Given the description of an element on the screen output the (x, y) to click on. 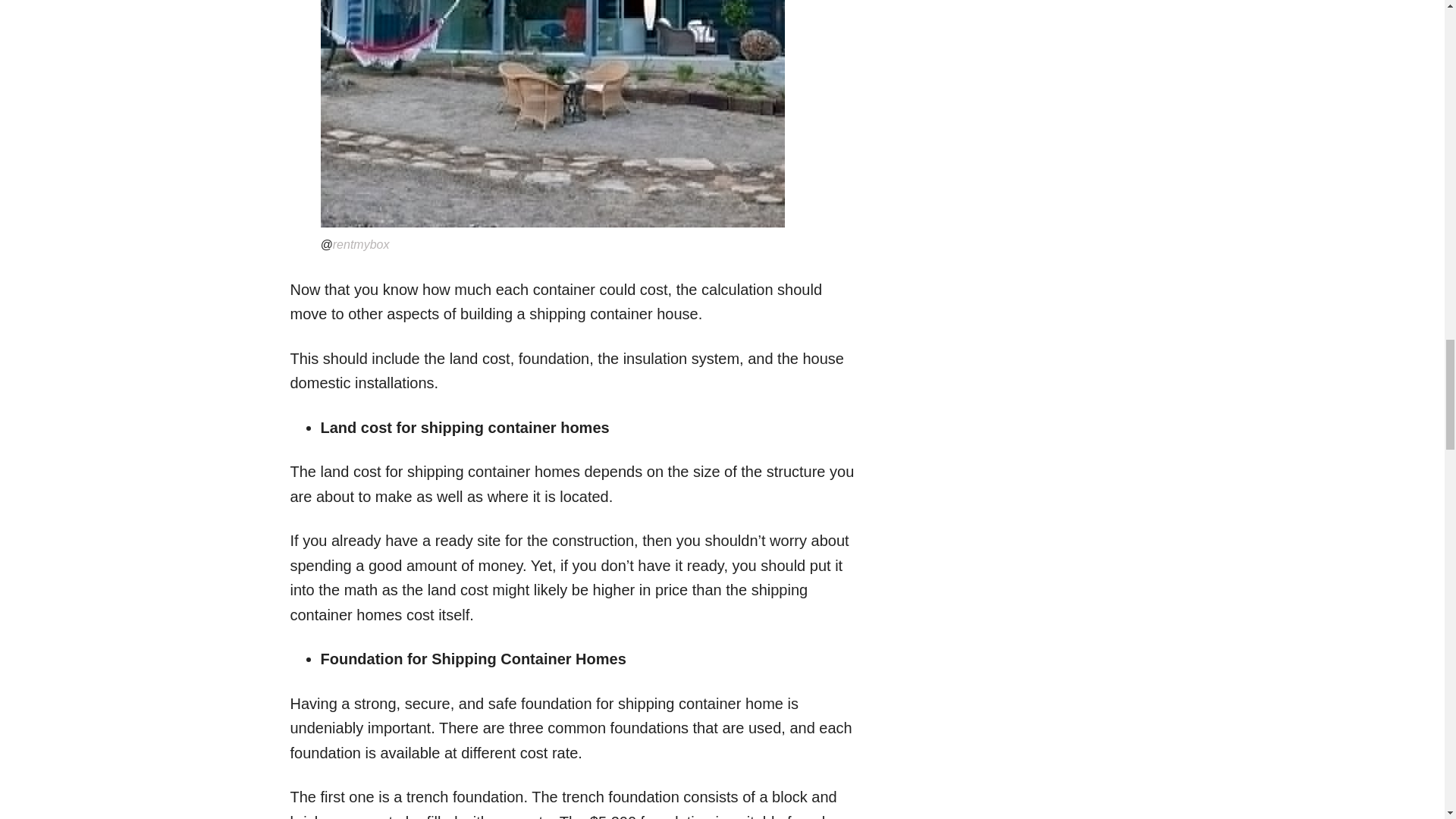
rentmybox (361, 244)
